Given the description of an element on the screen output the (x, y) to click on. 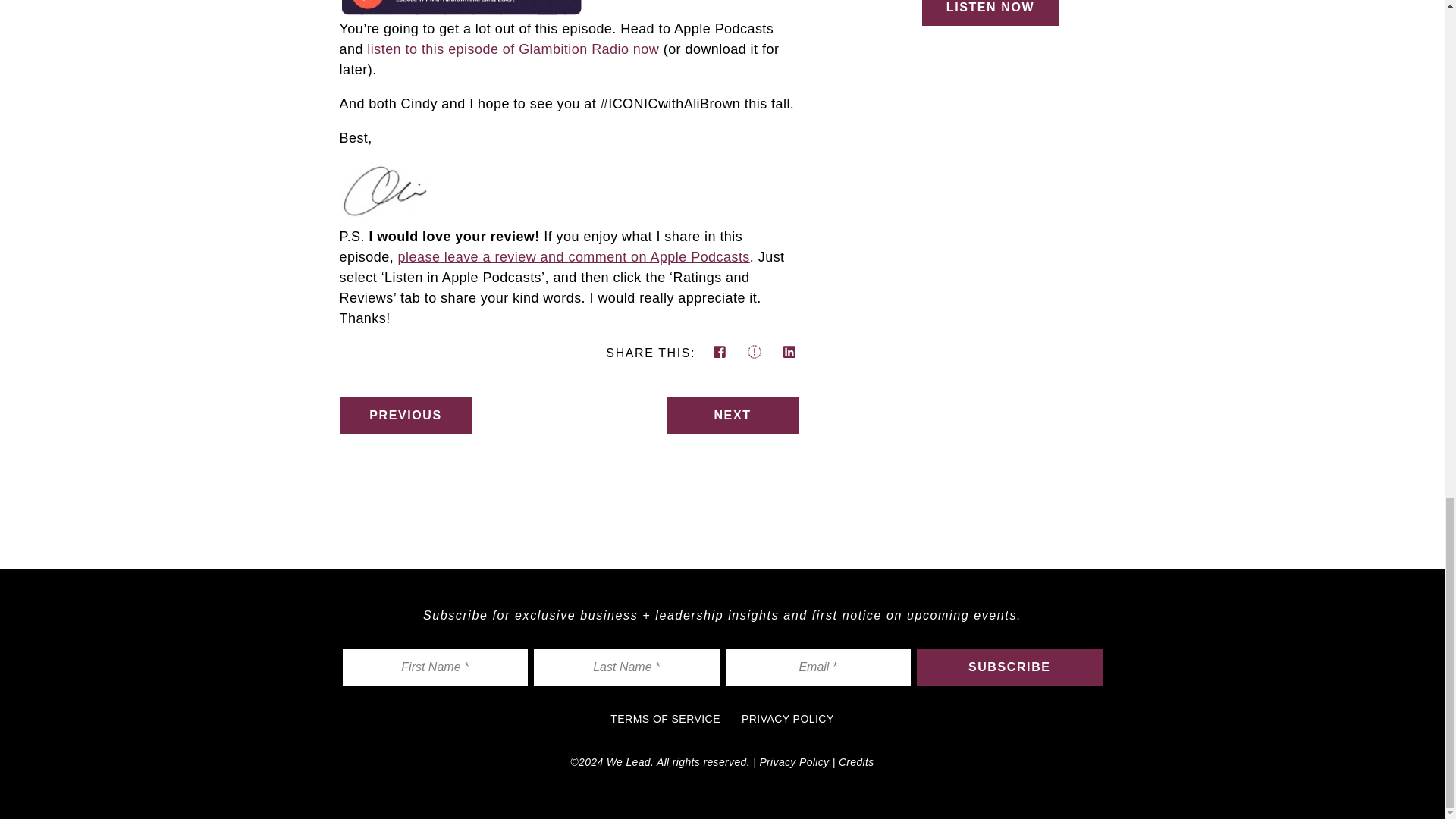
LISTEN NOW (989, 12)
NEXT (731, 415)
listen to this episode of Glambition Radio now (512, 48)
Privacy Policy (793, 761)
PREVIOUS (405, 415)
please leave a review and comment on Apple Podcasts (573, 256)
SUBSCRIBE (1009, 667)
TERMS OF SERVICE (664, 718)
PRIVACY POLICY (787, 718)
